Given the description of an element on the screen output the (x, y) to click on. 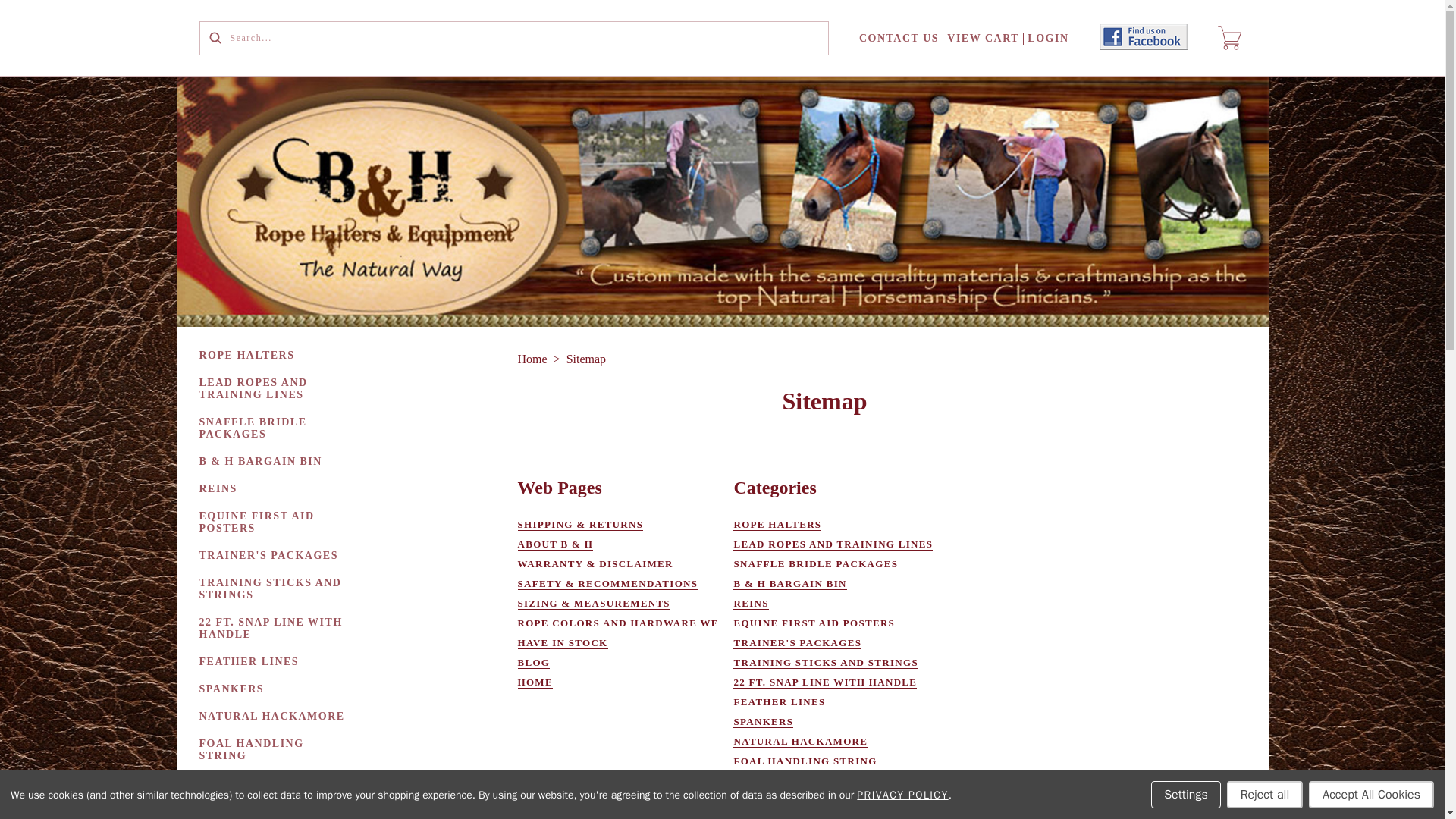
Open mini cart (1229, 37)
TRAINING STICKS AND STRINGS (278, 589)
VIEW CART (983, 38)
ROPE HALTERS (248, 355)
SPANKERS (232, 689)
SNAFFLE BRIDLE PACKAGES (278, 428)
BITS (214, 783)
NATURAL HACKAMORE (272, 716)
FEATHER LINES (250, 662)
22 FT. SNAP LINE WITH HANDLE (278, 628)
REINS (219, 489)
FOAL HANDLING STRING (278, 749)
LEAD ROPES AND TRAINING LINES (278, 388)
TRAINER'S PACKAGES (270, 555)
HEADSTALLS (240, 810)
